Given the description of an element on the screen output the (x, y) to click on. 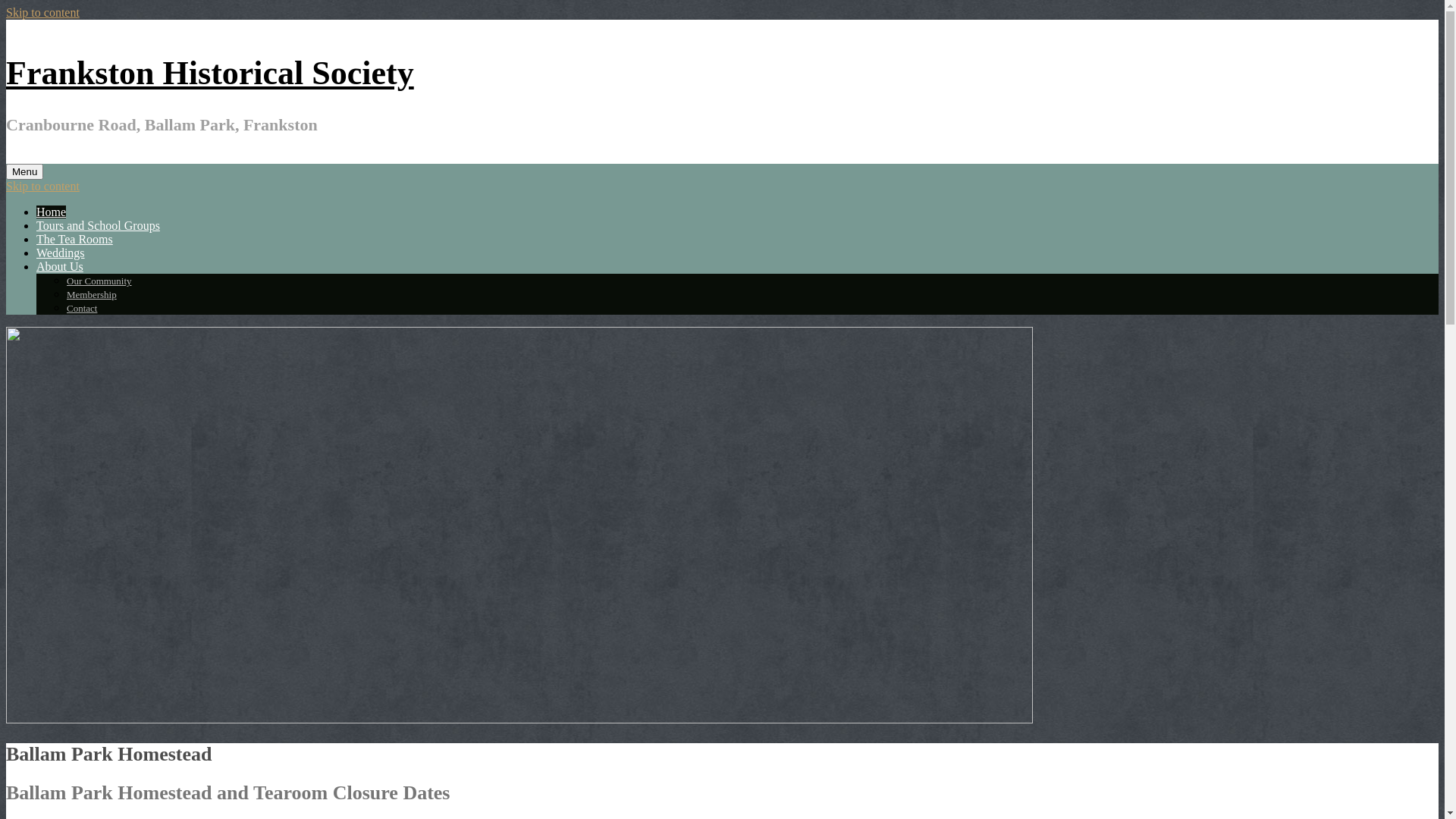
Tours and School Groups Element type: text (98, 225)
Weddings Element type: text (60, 252)
Home Element type: text (50, 211)
Frankston Historical Society Element type: text (210, 72)
Our Community Element type: text (98, 280)
The Tea Rooms Element type: text (74, 238)
Contact Element type: text (81, 307)
Skip to content Element type: text (42, 185)
Skip to content Element type: text (42, 12)
Menu Element type: text (24, 171)
Membership Element type: text (91, 294)
About Us Element type: text (59, 266)
